Given the description of an element on the screen output the (x, y) to click on. 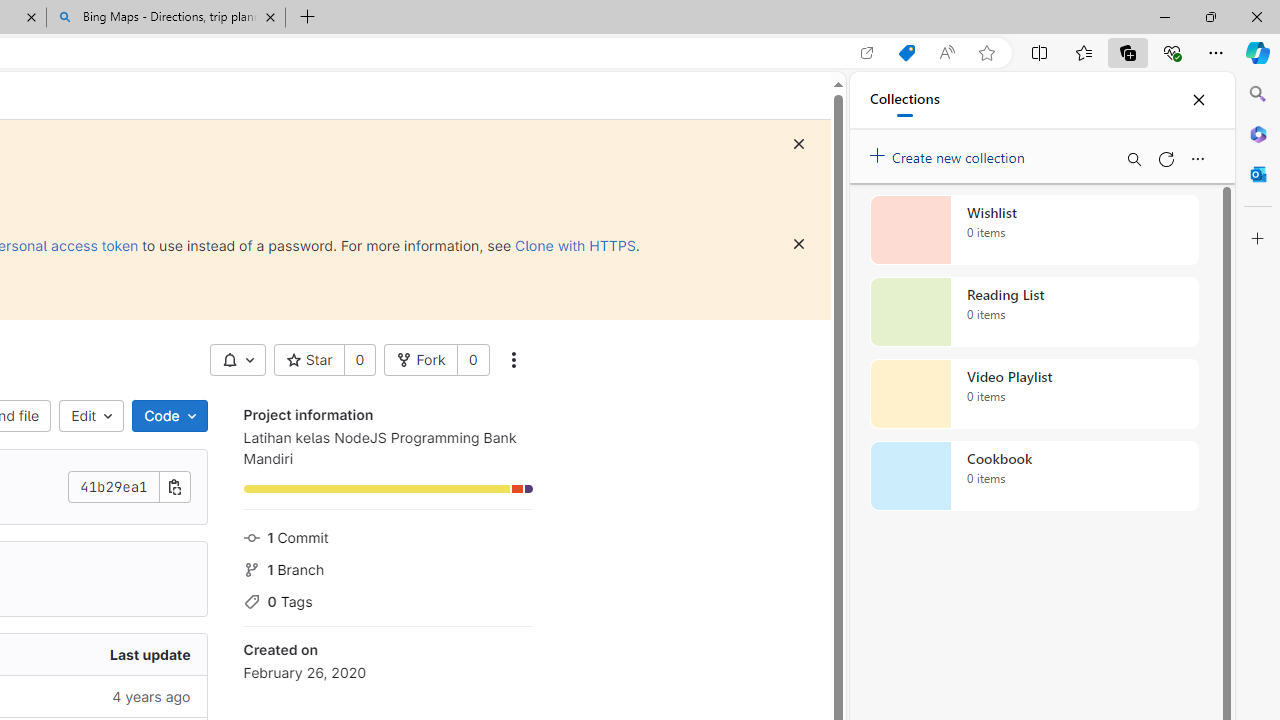
1 Branch (387, 567)
Video Playlist collection, 0 items (1034, 394)
Clone with HTTPS (575, 245)
Edit (91, 416)
Create new collection (950, 153)
AutomationID: __BVID__356__BV_toggle_ (237, 359)
Open in app (867, 53)
Code (169, 416)
